Given the description of an element on the screen output the (x, y) to click on. 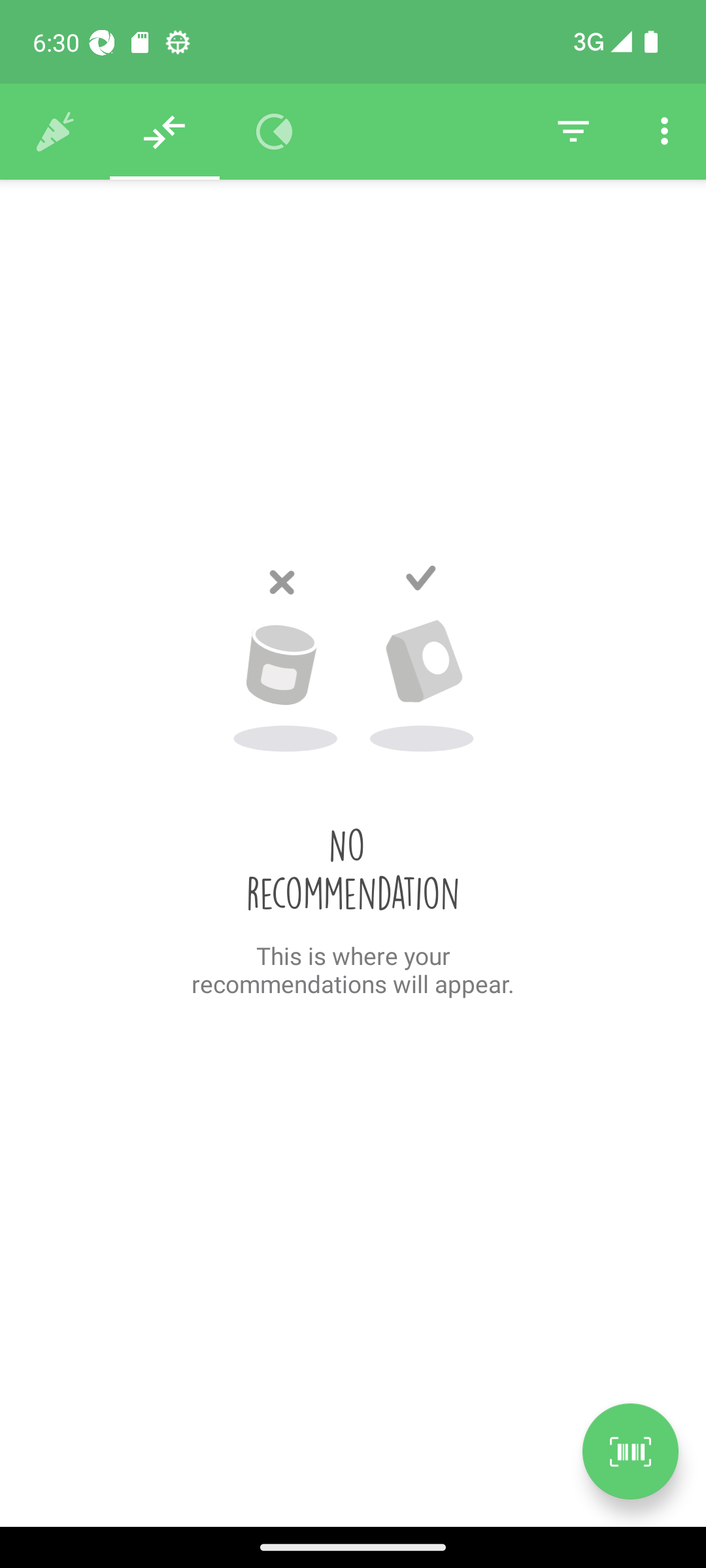
History (55, 131)
Overview (274, 131)
Filter (572, 131)
Settings (664, 131)
Scan a product (630, 1451)
